Given the description of an element on the screen output the (x, y) to click on. 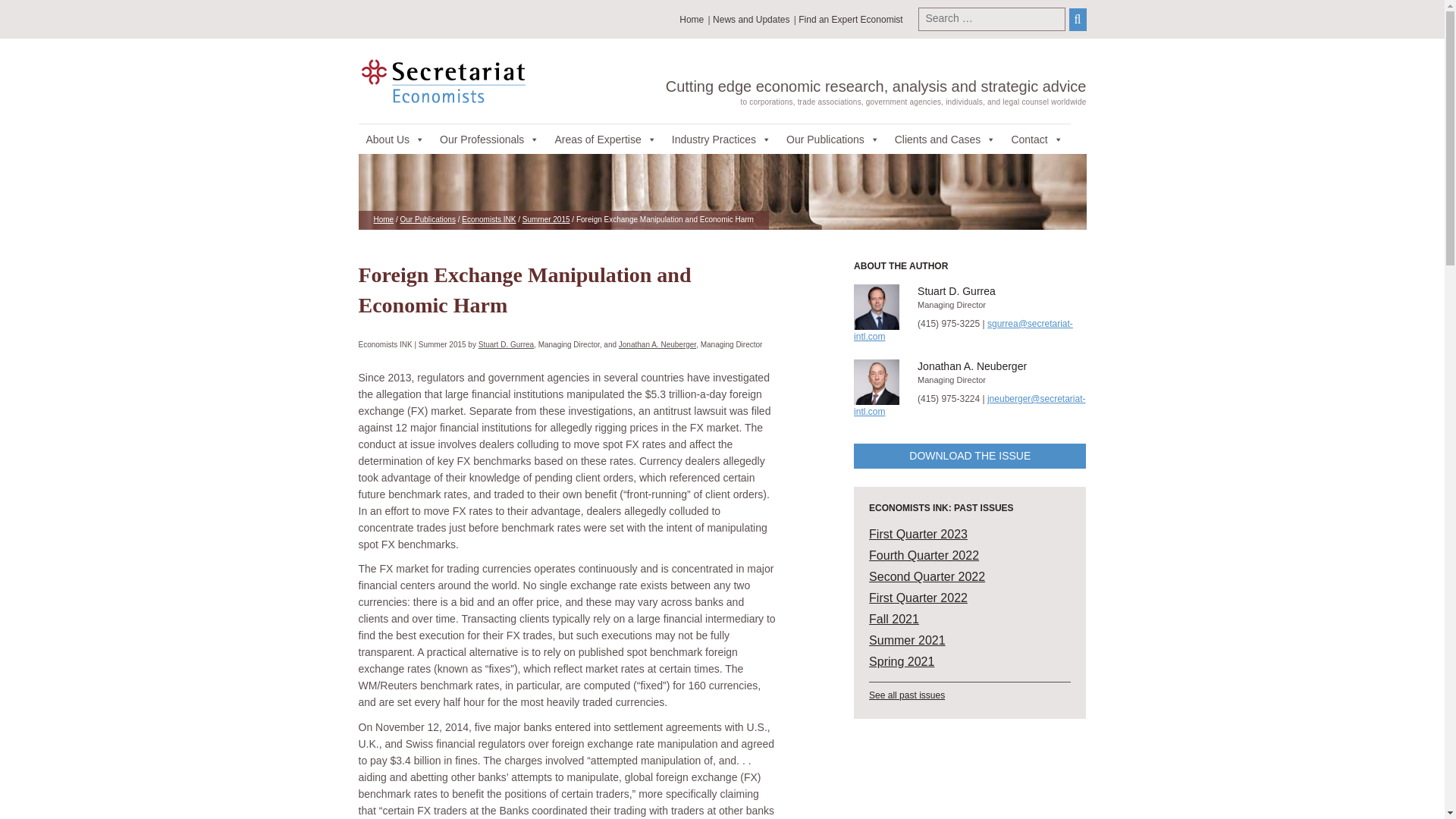
Industry Practices (720, 138)
Areas of Expertise (605, 138)
About Us (395, 138)
News and Updates (751, 18)
Find an Expert Economist (849, 18)
Our Professionals (489, 138)
Home (691, 18)
